Given the description of an element on the screen output the (x, y) to click on. 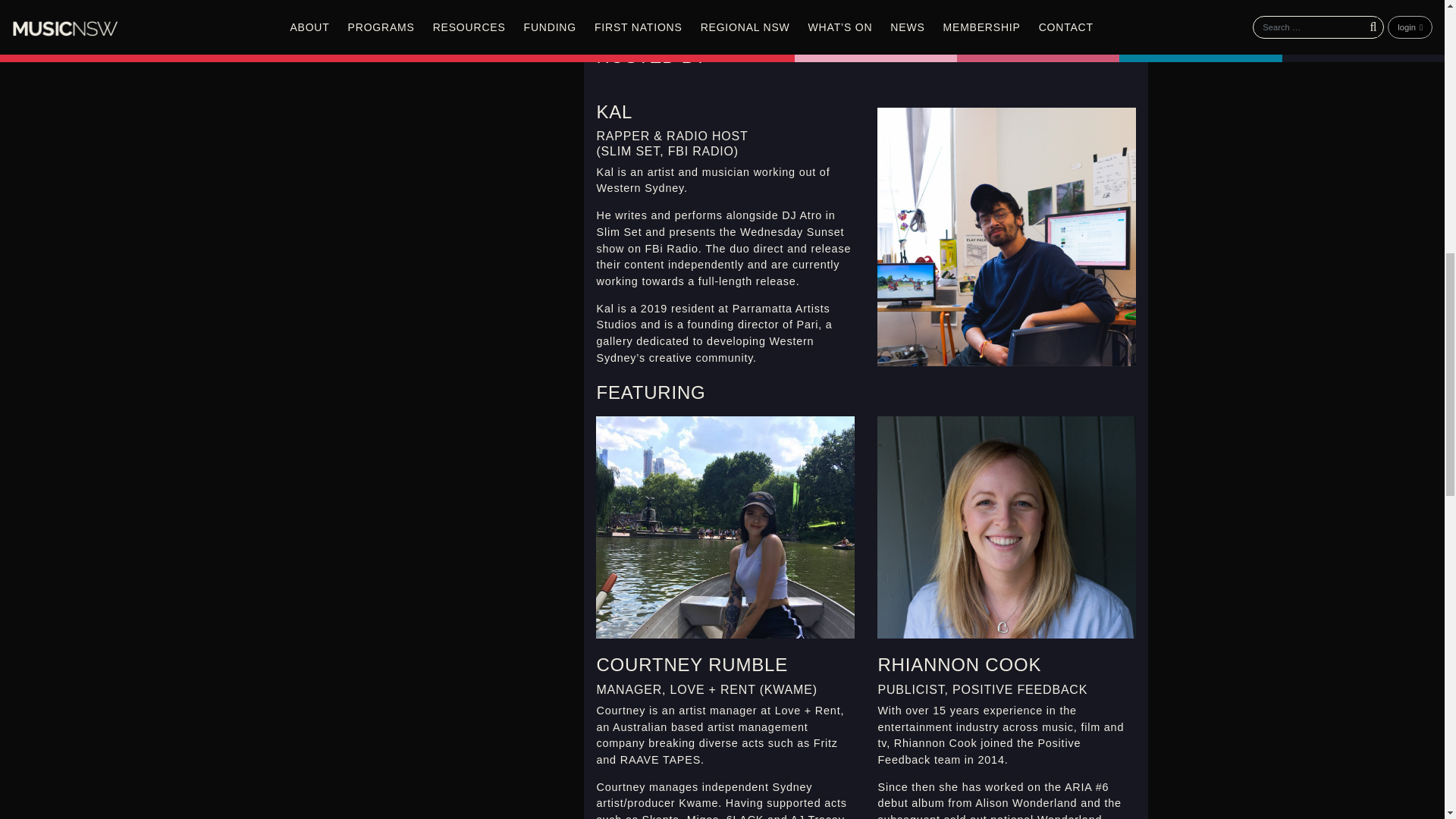
Kal - Slim Set (1006, 236)
Rhiannon Cook (1006, 527)
Courtney Rumble (724, 527)
